Given the description of an element on the screen output the (x, y) to click on. 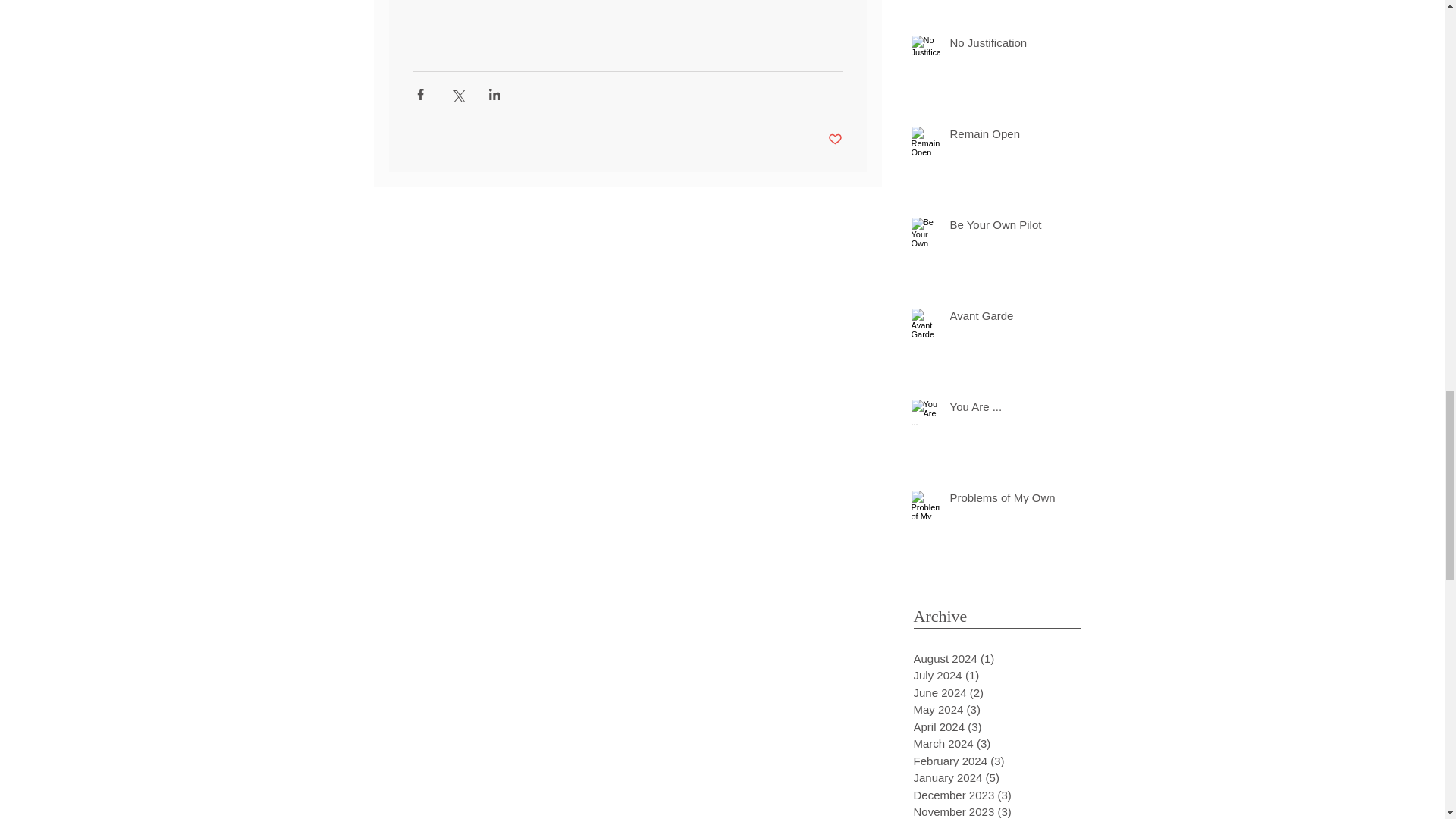
No Justification (1003, 45)
Problems of My Own (1003, 500)
Remain Open (1003, 137)
Avant Garde (1003, 318)
Be Your Own Pilot (1003, 228)
You Are ... (1003, 409)
Post not marked as liked (835, 139)
